Given the description of an element on the screen output the (x, y) to click on. 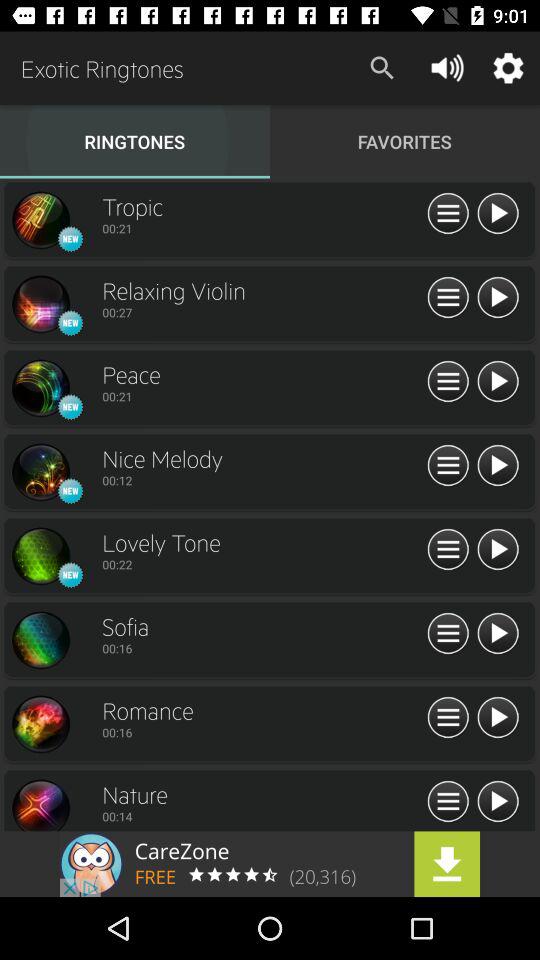
open ringtone options (447, 633)
